Given the description of an element on the screen output the (x, y) to click on. 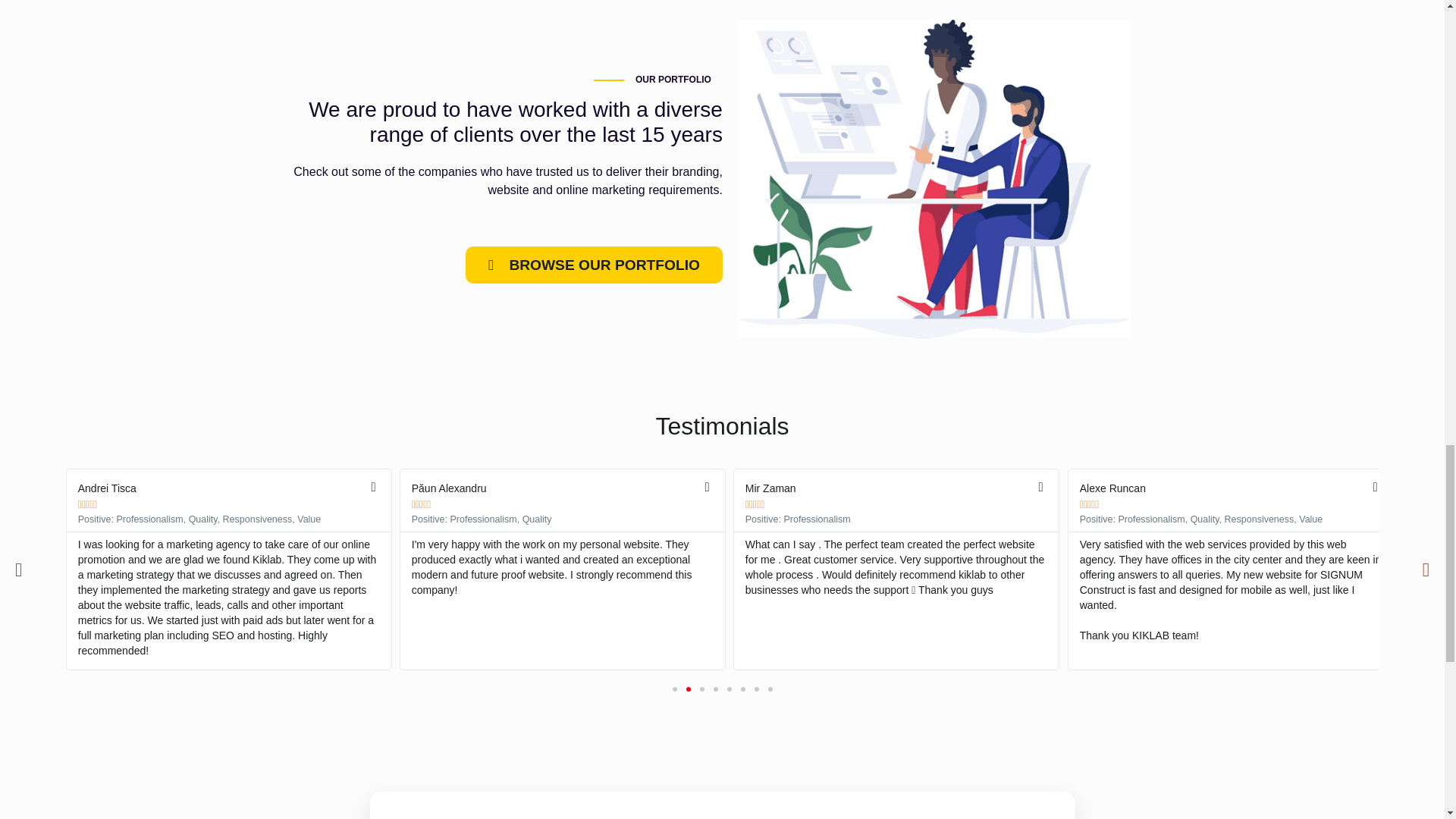
BROWSE OUR PORTFOLIO (593, 264)
